Given the description of an element on the screen output the (x, y) to click on. 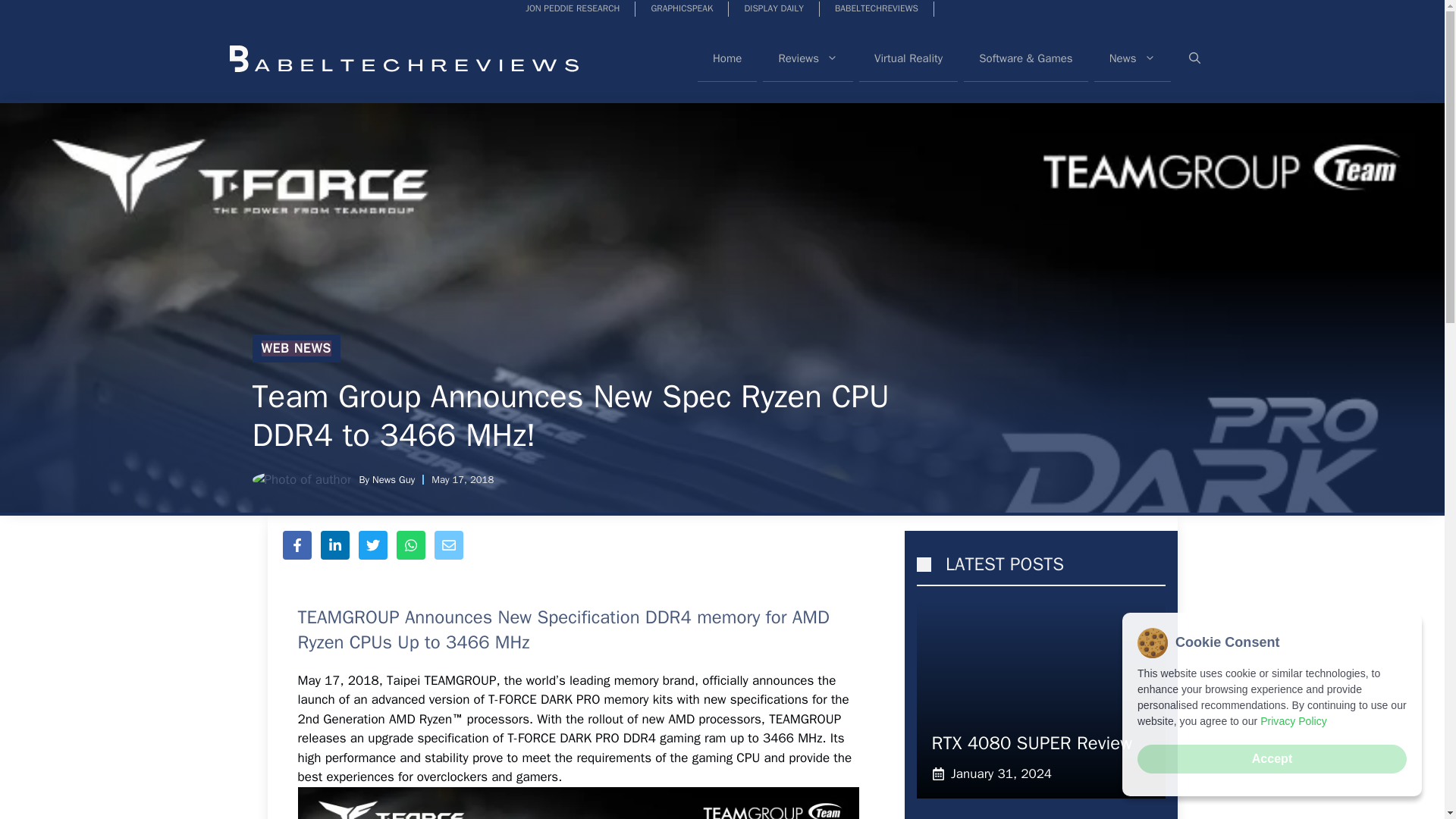
Reviews (807, 58)
News Guy (393, 479)
WEB NEWS (295, 348)
News (1132, 58)
GRAPHICSPEAK (681, 8)
DISPLAY DAILY (773, 8)
BABELTECHREVIEWS (876, 8)
SORRY, YOUR BROWSER DOES NOT SUPPORT INLINE SVG. (922, 564)
Virtual Reality (908, 58)
Home (727, 58)
JON PEDDIE RESEARCH (572, 8)
